Given the description of an element on the screen output the (x, y) to click on. 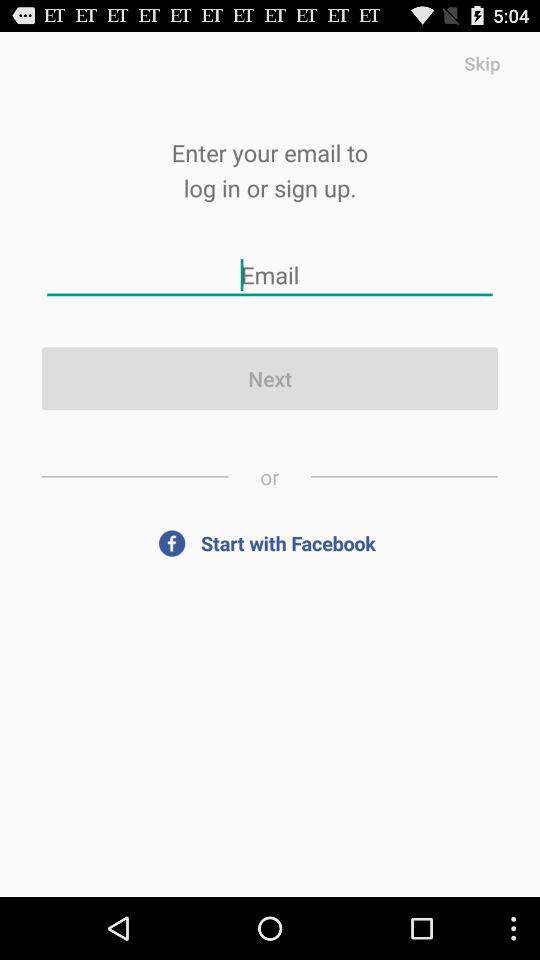
select next button (269, 377)
